Given the description of an element on the screen output the (x, y) to click on. 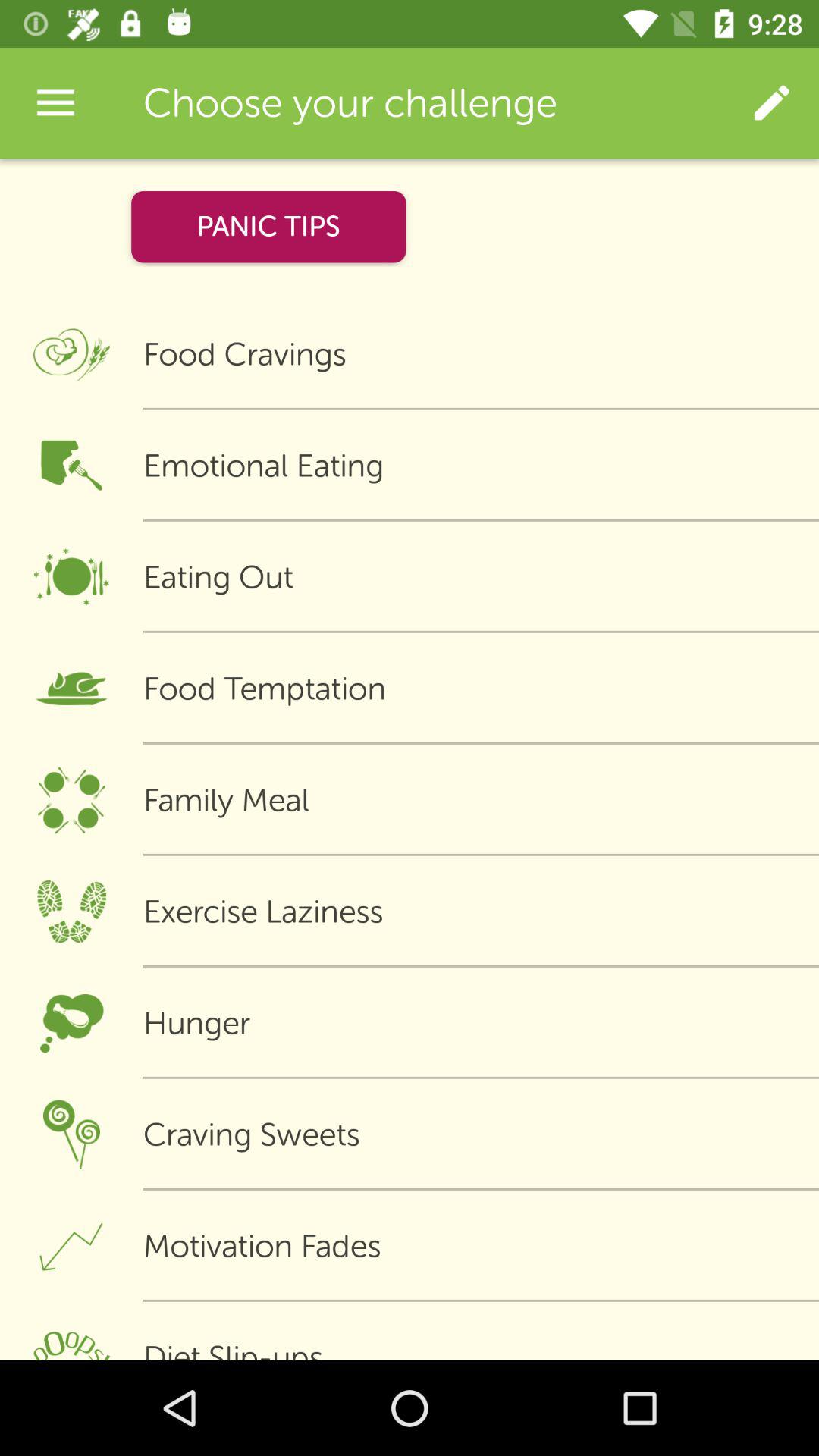
scroll until panic tips item (268, 226)
